Given the description of an element on the screen output the (x, y) to click on. 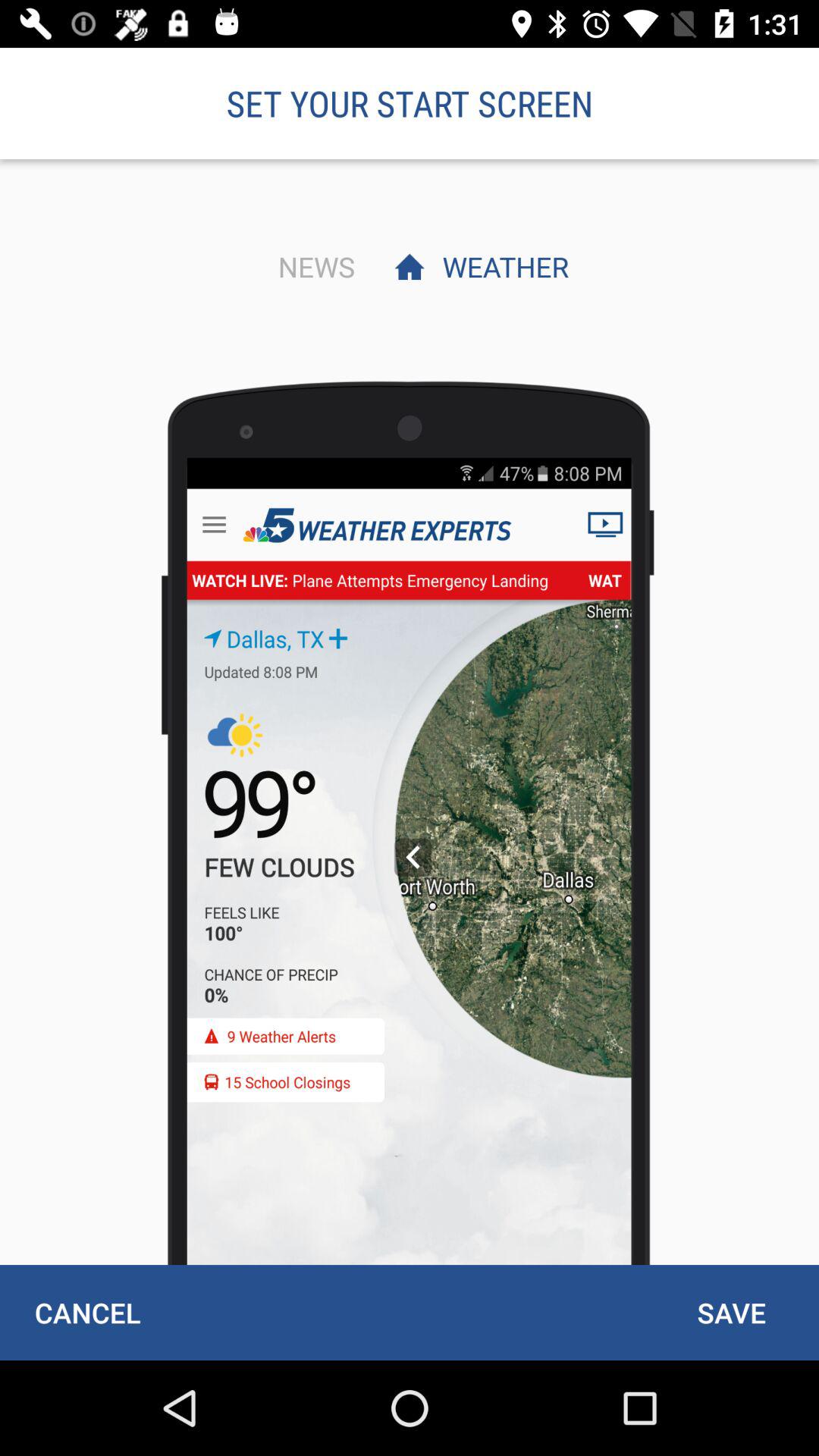
choose the news item (312, 266)
